Given the description of an element on the screen output the (x, y) to click on. 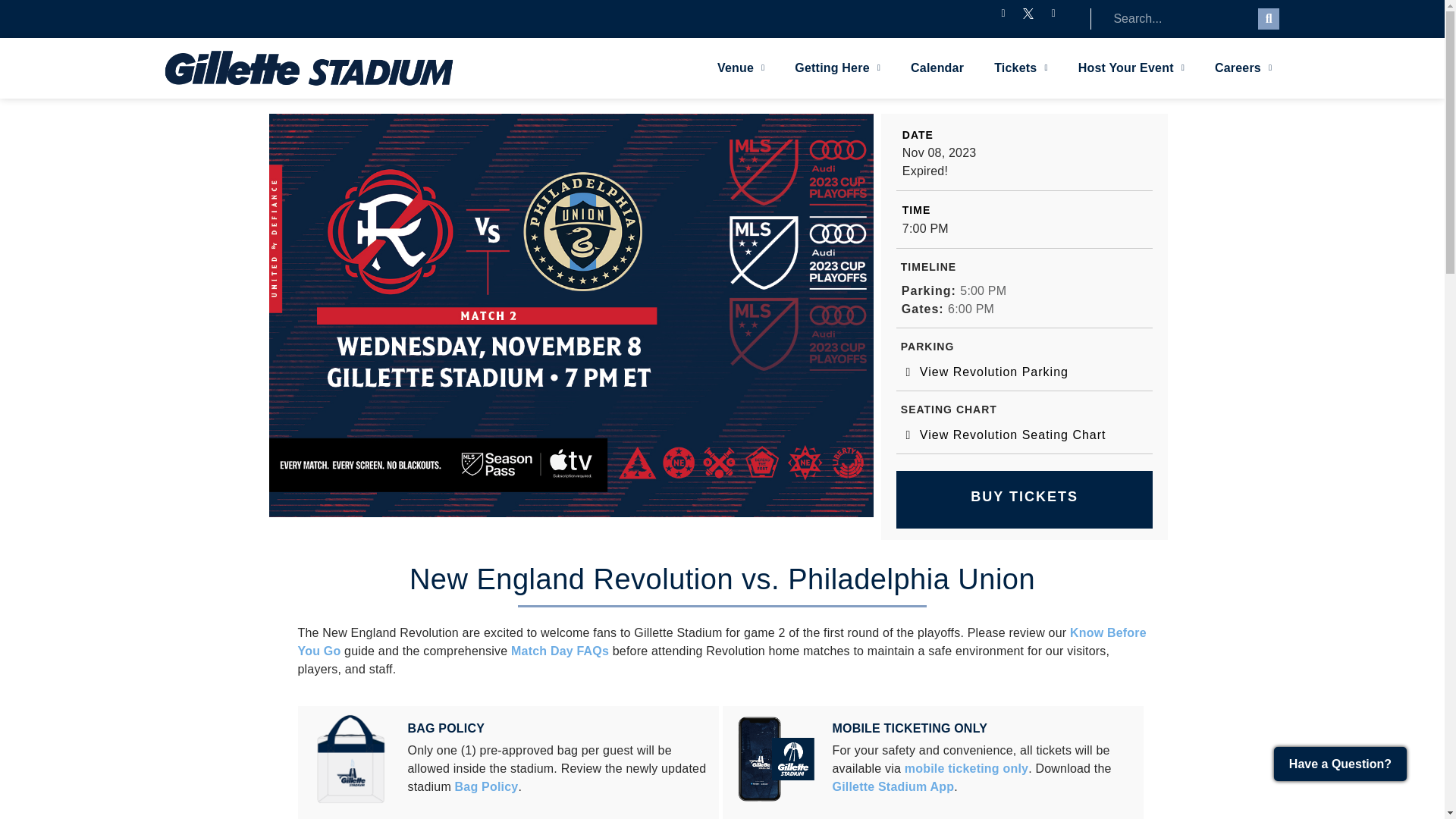
Tickets (1020, 67)
Calendar (936, 67)
Getting Here (836, 67)
Host Your Event (1130, 67)
Careers (1243, 67)
Venue (739, 67)
